Given the description of an element on the screen output the (x, y) to click on. 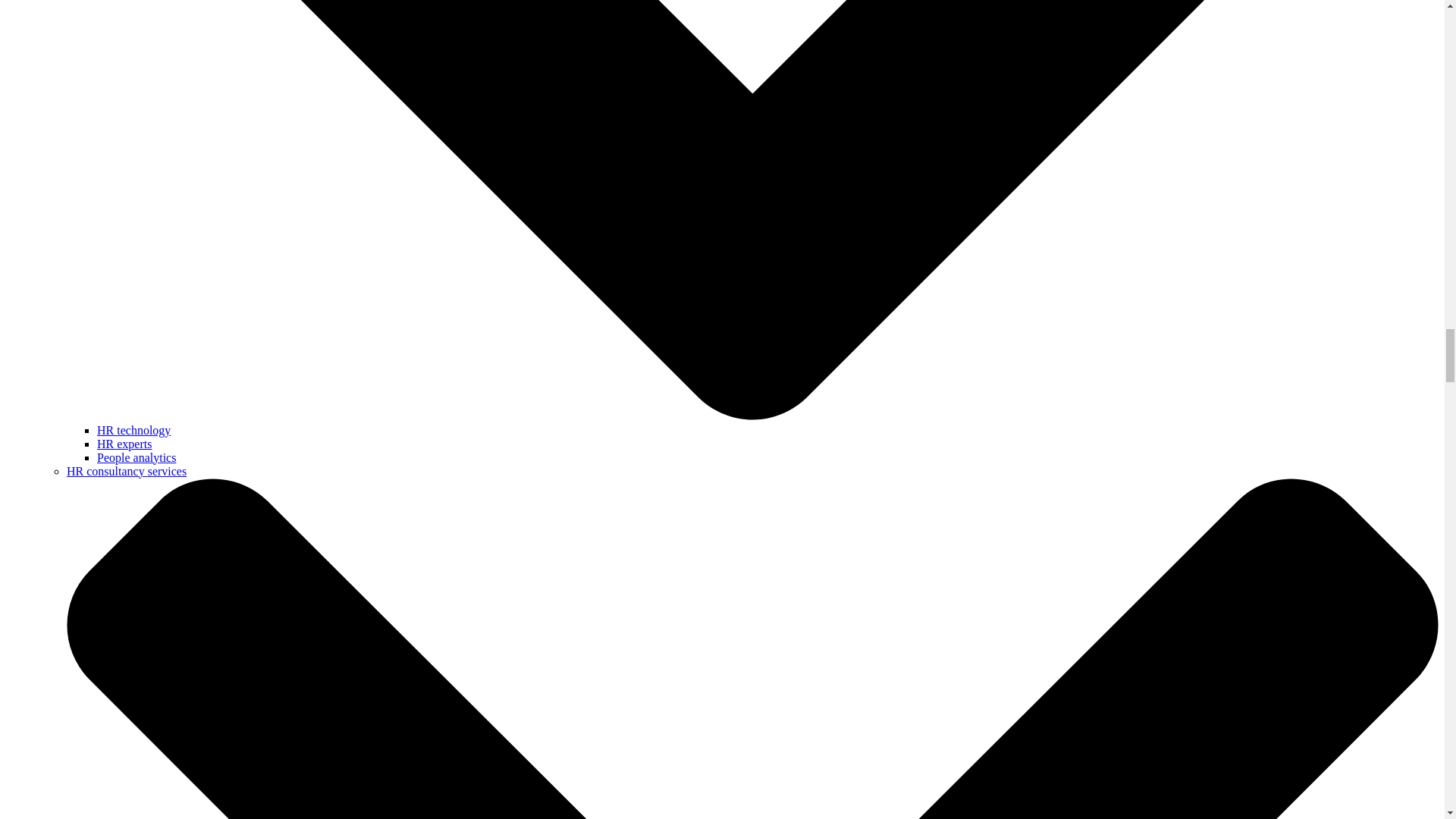
People analytics (136, 456)
HR experts (124, 442)
HR technology (133, 429)
